Given the description of an element on the screen output the (x, y) to click on. 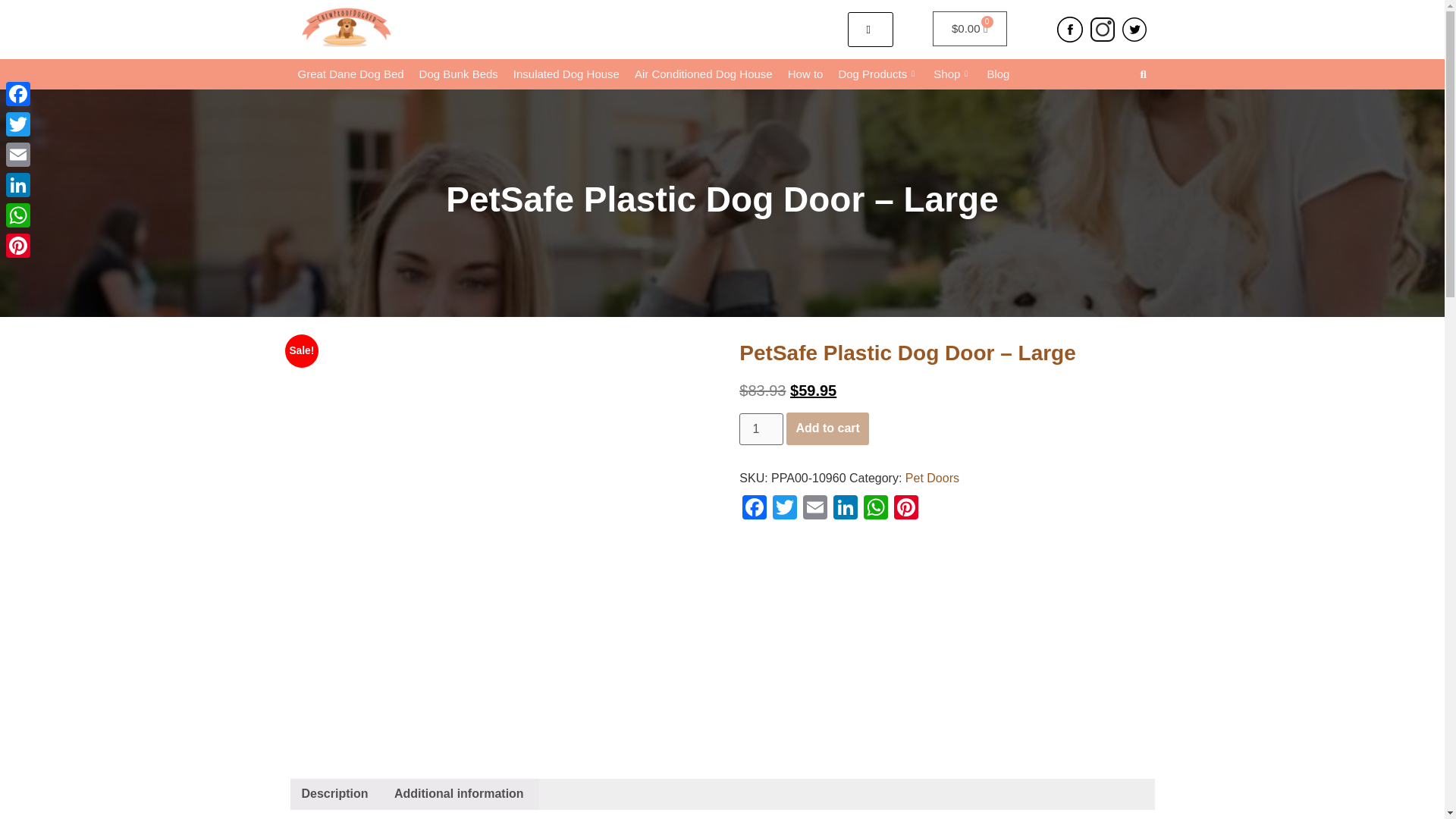
Twitter (784, 511)
Pinterest (906, 511)
Email (814, 511)
LinkedIn (844, 511)
Facebook (754, 511)
Twitter (17, 123)
LinkedIn (17, 184)
WhatsApp (875, 511)
Qty (761, 429)
Email (17, 154)
